Given the description of an element on the screen output the (x, y) to click on. 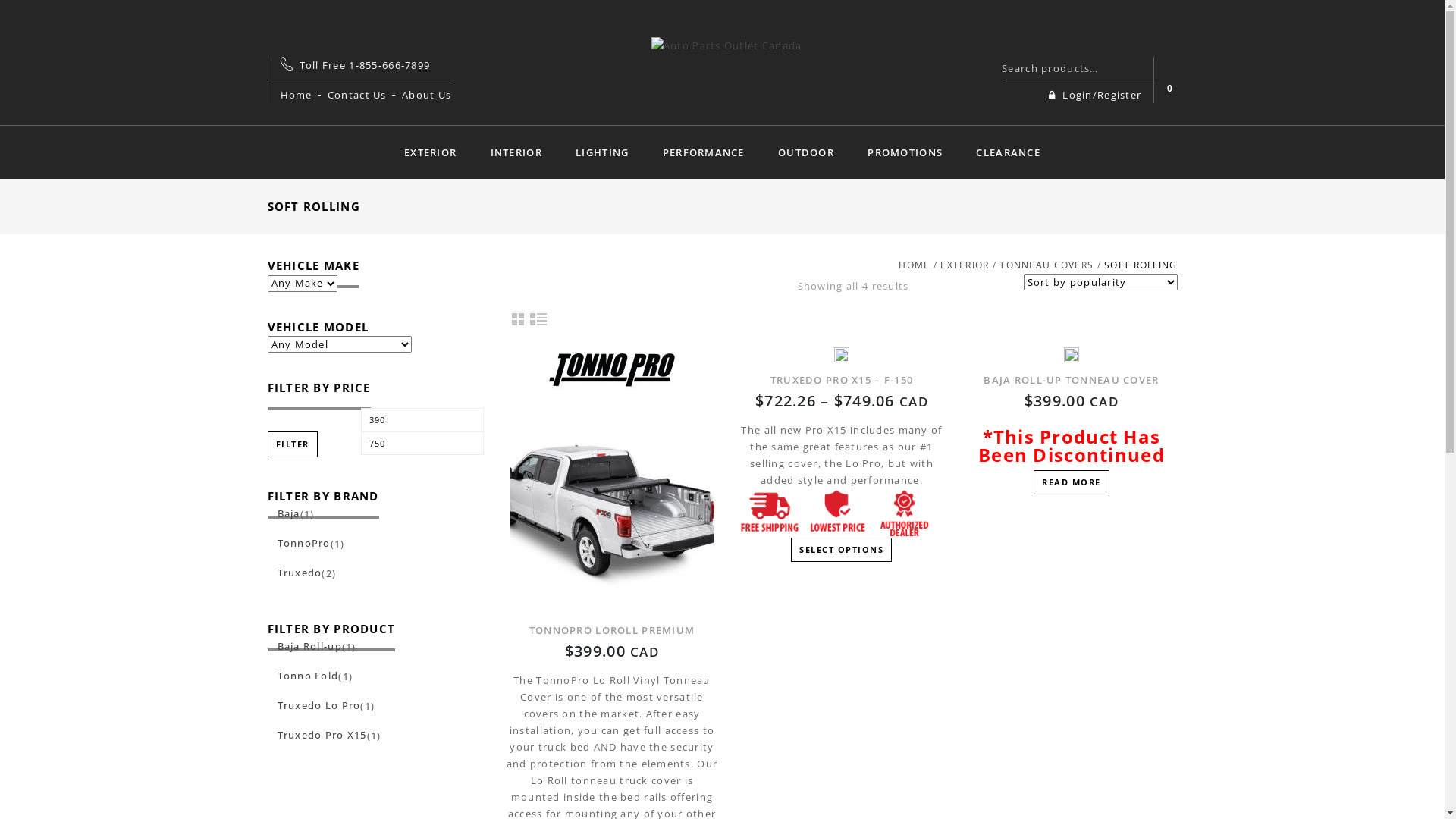
PERFORMANCE Element type: text (703, 151)
Baja Element type: text (282, 513)
Login/Register Element type: text (1100, 94)
SELECT OPTIONS Element type: text (840, 549)
HOME Element type: text (913, 264)
Grid view Element type: hover (517, 318)
FILTER Element type: text (291, 444)
TONNEAU COVERS Element type: text (1046, 264)
Truxedo Lo Pro Element type: text (313, 704)
Contact Us Element type: text (356, 94)
List view Element type: hover (538, 318)
EXTERIOR Element type: text (964, 264)
EXTERIOR Element type: text (430, 151)
APO Element type: hover (726, 43)
Tonno Fold Element type: text (302, 675)
OUTDOOR Element type: text (805, 151)
PROMOTIONS Element type: text (904, 151)
About Us Element type: text (426, 94)
Truxedo Element type: text (293, 572)
0 Element type: text (1170, 88)
BAJA ROLL-UP TONNEAU COVER Element type: text (1070, 404)
Baja Roll-up Element type: text (303, 645)
Home Element type: text (296, 94)
LIGHTING Element type: text (601, 151)
READ MORE Element type: text (1071, 482)
INTERIOR Element type: text (516, 151)
Search Element type: text (1135, 67)
Truxedo Pro X15 Element type: text (316, 734)
TonnoPro Element type: text (297, 542)
CLEARANCE Element type: text (1007, 151)
